Given the description of an element on the screen output the (x, y) to click on. 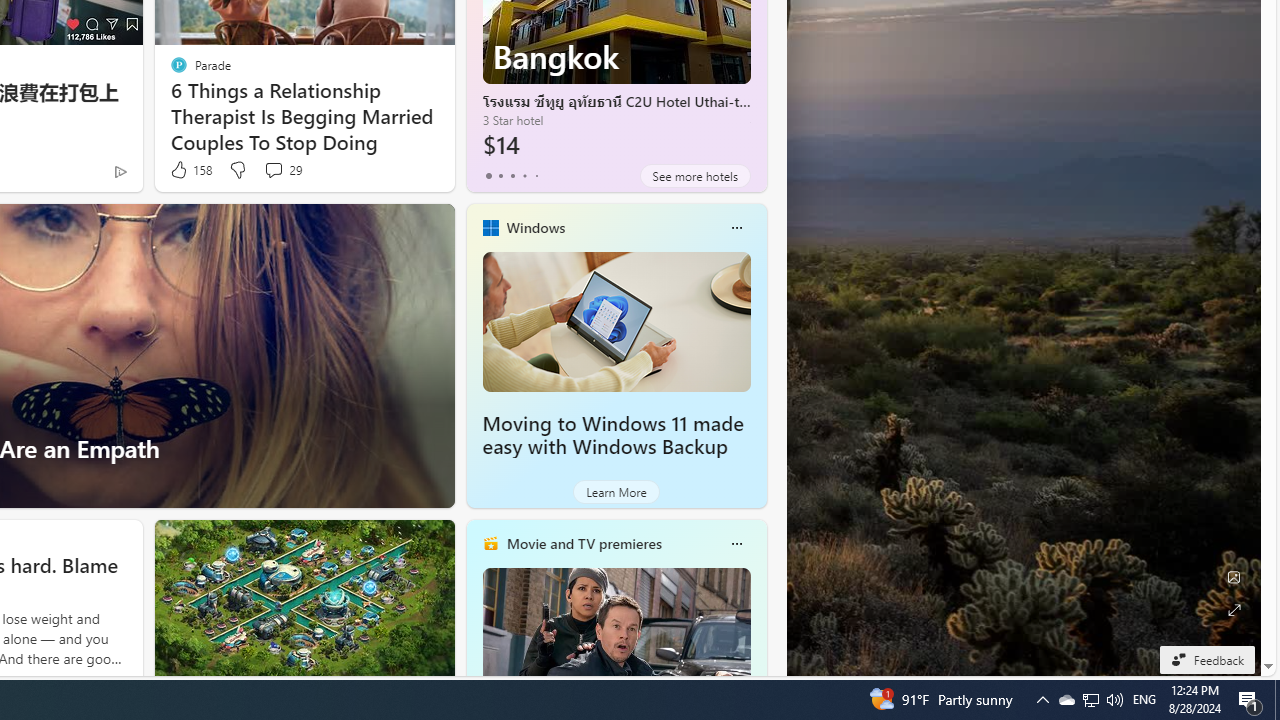
View comments 29 Comment (281, 170)
Moving to Windows 11 made easy with Windows Backup (612, 435)
tab-4 (535, 175)
Windows (535, 227)
Movie and TV premieres (583, 543)
Moving to Windows 11 made easy with Windows Backup (616, 321)
